Given the description of an element on the screen output the (x, y) to click on. 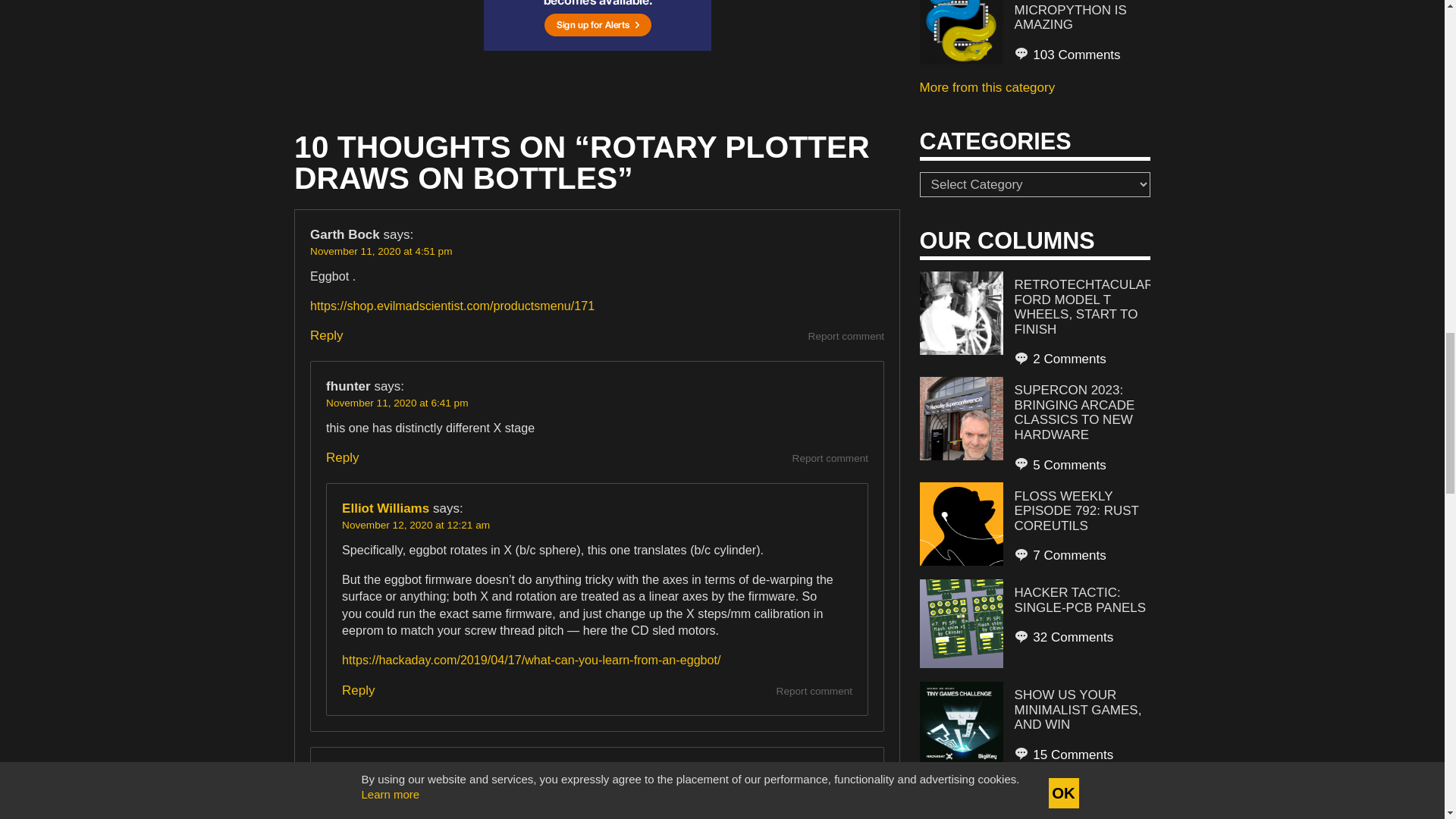
Report comment (845, 336)
November 11, 2020 at 4:51 pm (380, 251)
